Given the description of an element on the screen output the (x, y) to click on. 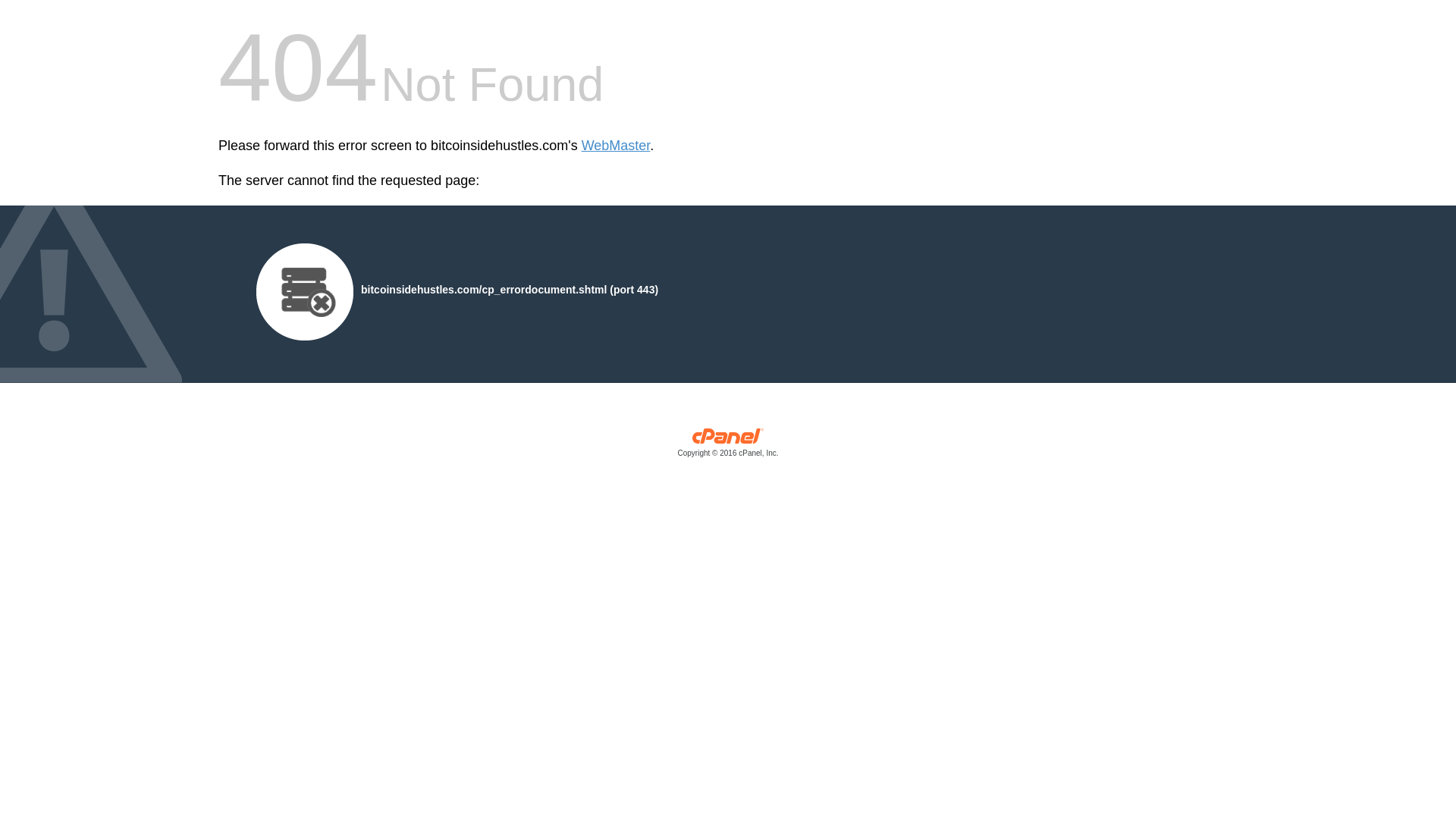
WebMaster (615, 145)
cPanel, Inc. (727, 446)
